Given the description of an element on the screen output the (x, y) to click on. 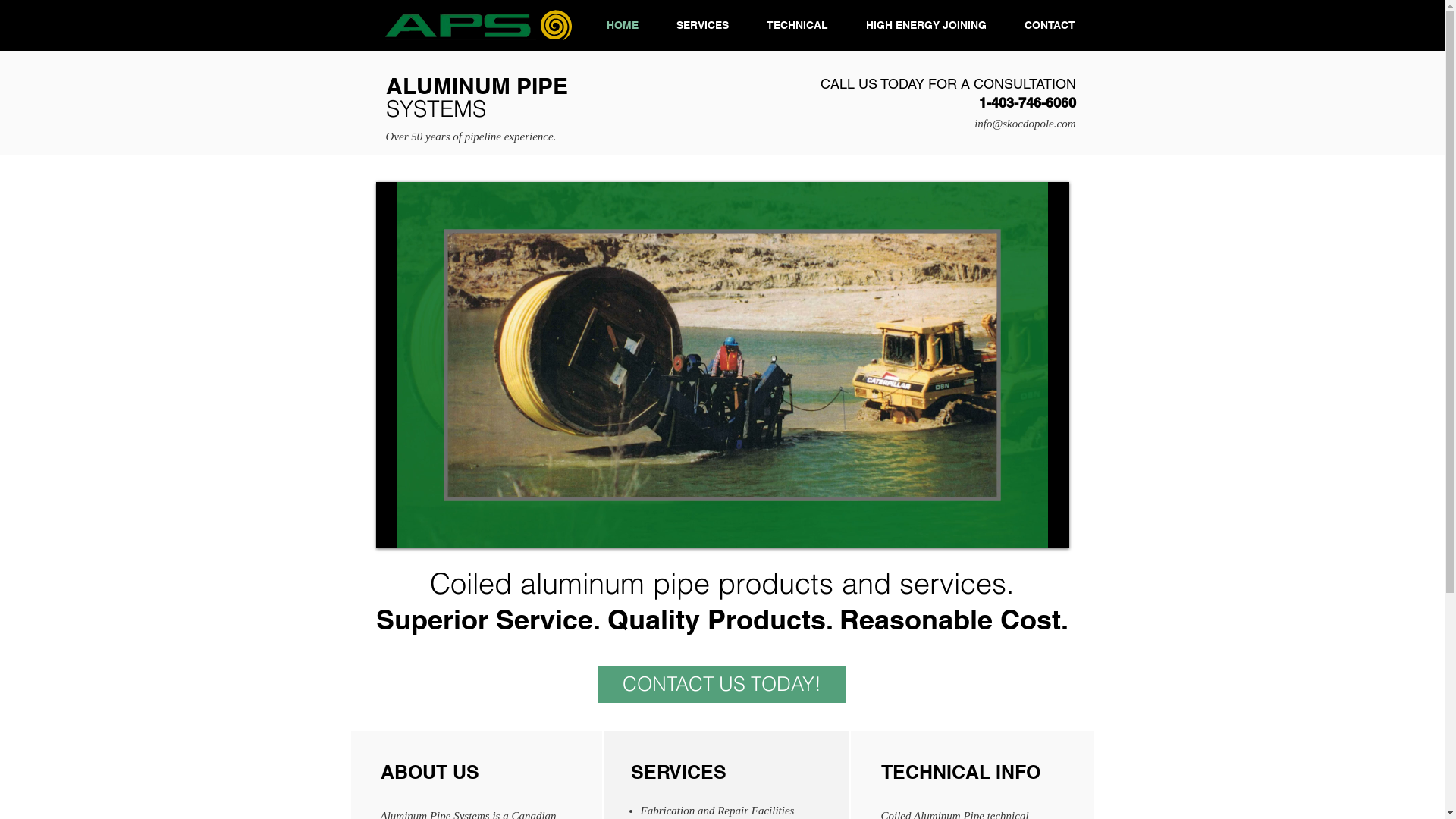
TECHNICAL Element type: text (797, 24)
HOME Element type: text (621, 24)
info@skocdopole.com Element type: text (1024, 123)
ALUMINUM PIPE
SYSTEMS Element type: text (476, 97)
CONTACT US TODAY! Element type: text (721, 683)
SERVICES Element type: text (701, 24)
CONTACT Element type: text (1049, 24)
HIGH ENERGY JOINING Element type: text (925, 24)
